Given the description of an element on the screen output the (x, y) to click on. 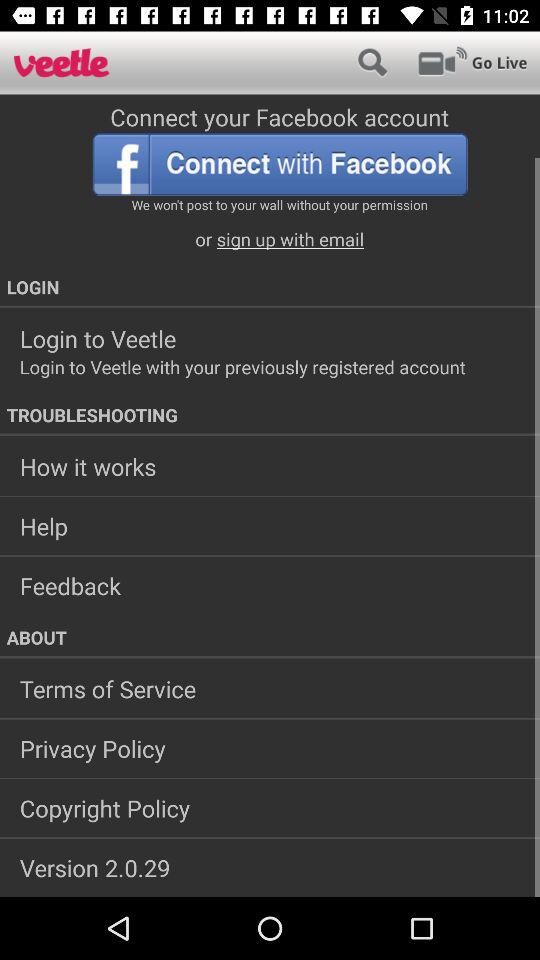
turn off version 2 0 item (270, 867)
